Given the description of an element on the screen output the (x, y) to click on. 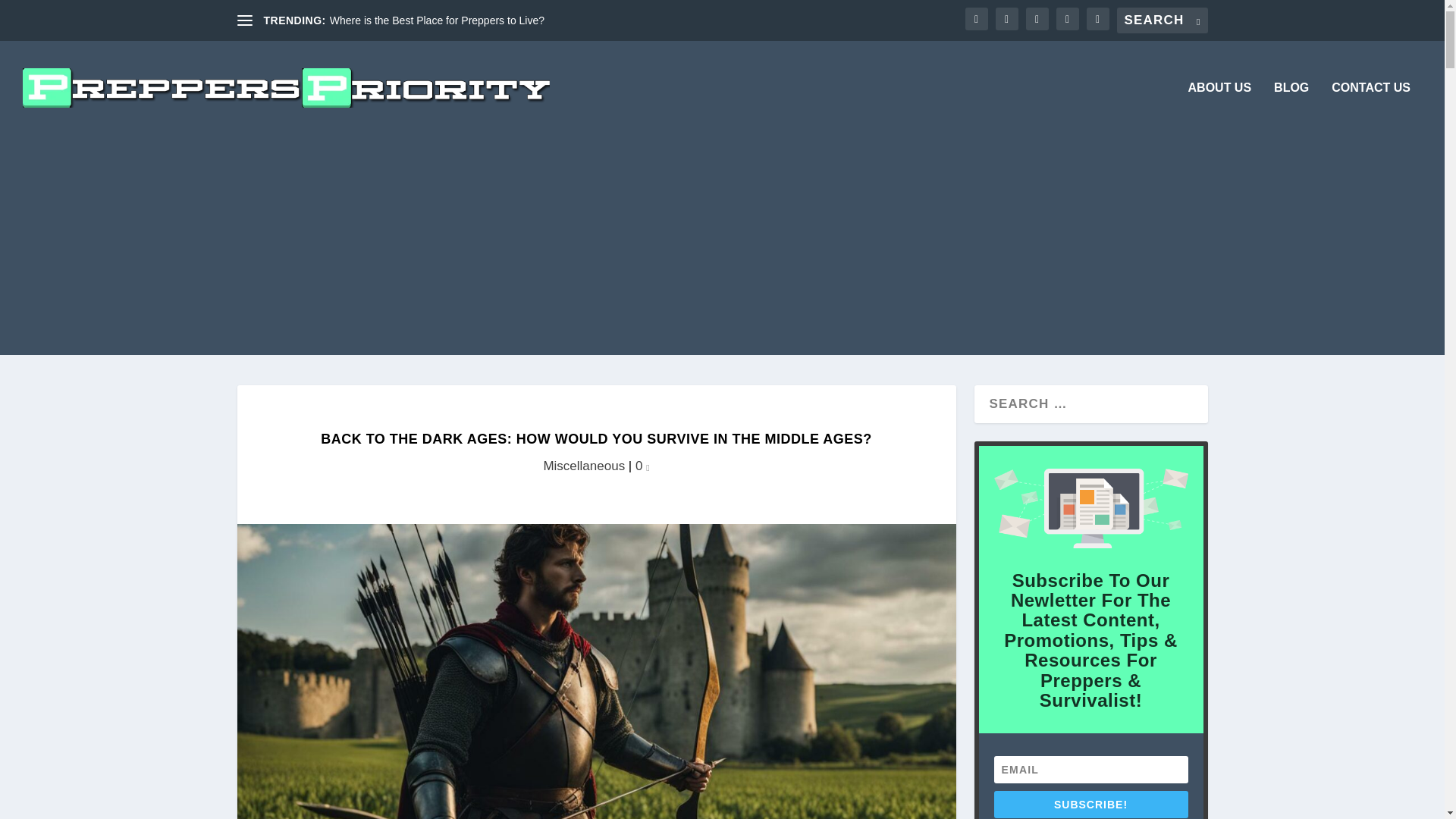
Miscellaneous (583, 465)
Search for: (1161, 20)
0 (641, 465)
Where is the Best Place for Preppers to Live? (437, 20)
CONTACT US (1371, 108)
ABOUT US (1220, 108)
